Given the description of an element on the screen output the (x, y) to click on. 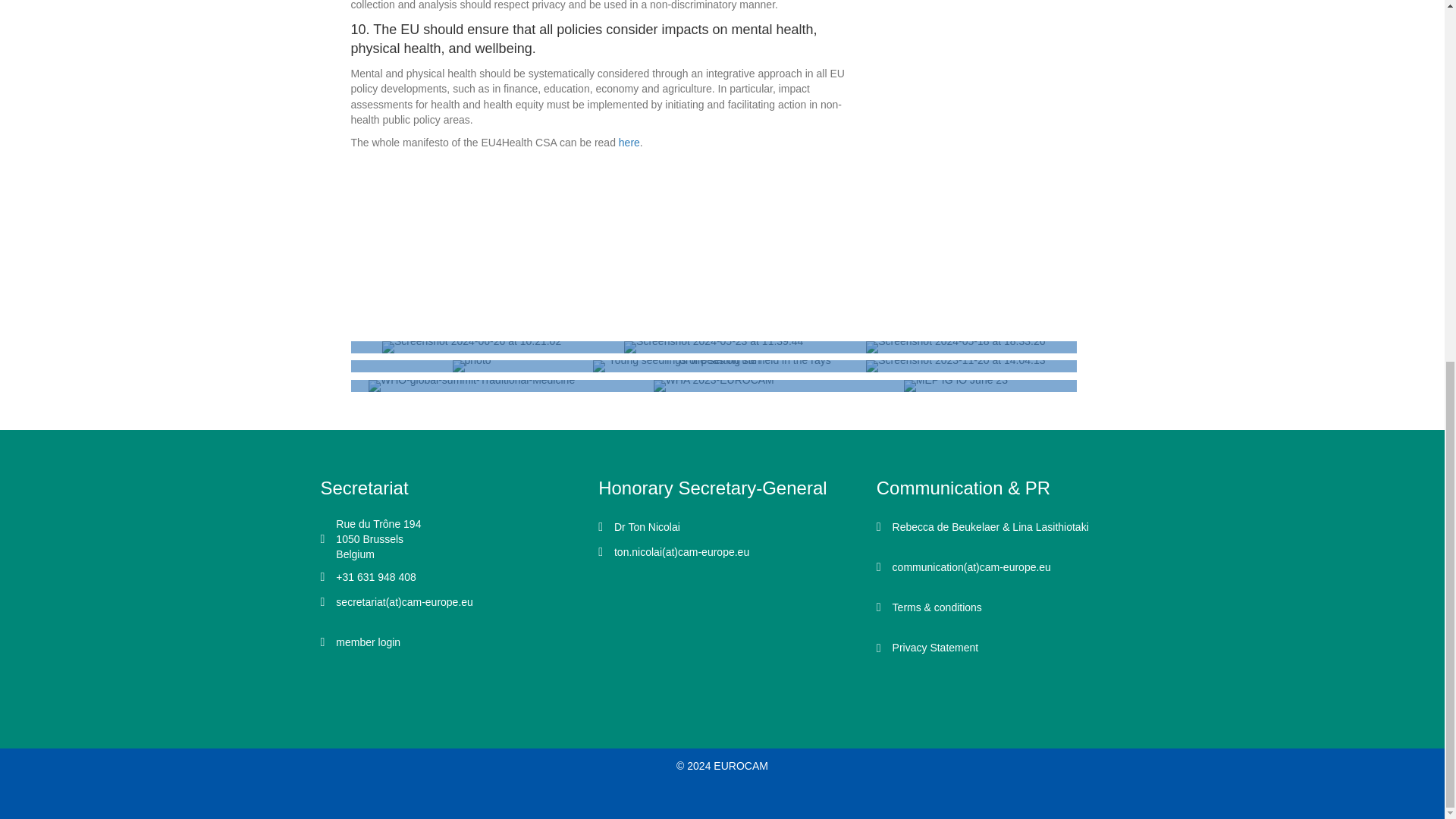
Screenshot 2024-06-26 at 10.21.02 (470, 346)
photo (472, 366)
Screenshot 2024-05-23 at 11.39.44 (713, 346)
Page 3 (606, 73)
Enhancing cancer care in Europe through integrative oncology (471, 346)
Page 2 (606, 63)
Screenshot 2024-05-18 at 18.33.26 (955, 346)
